Given the description of an element on the screen output the (x, y) to click on. 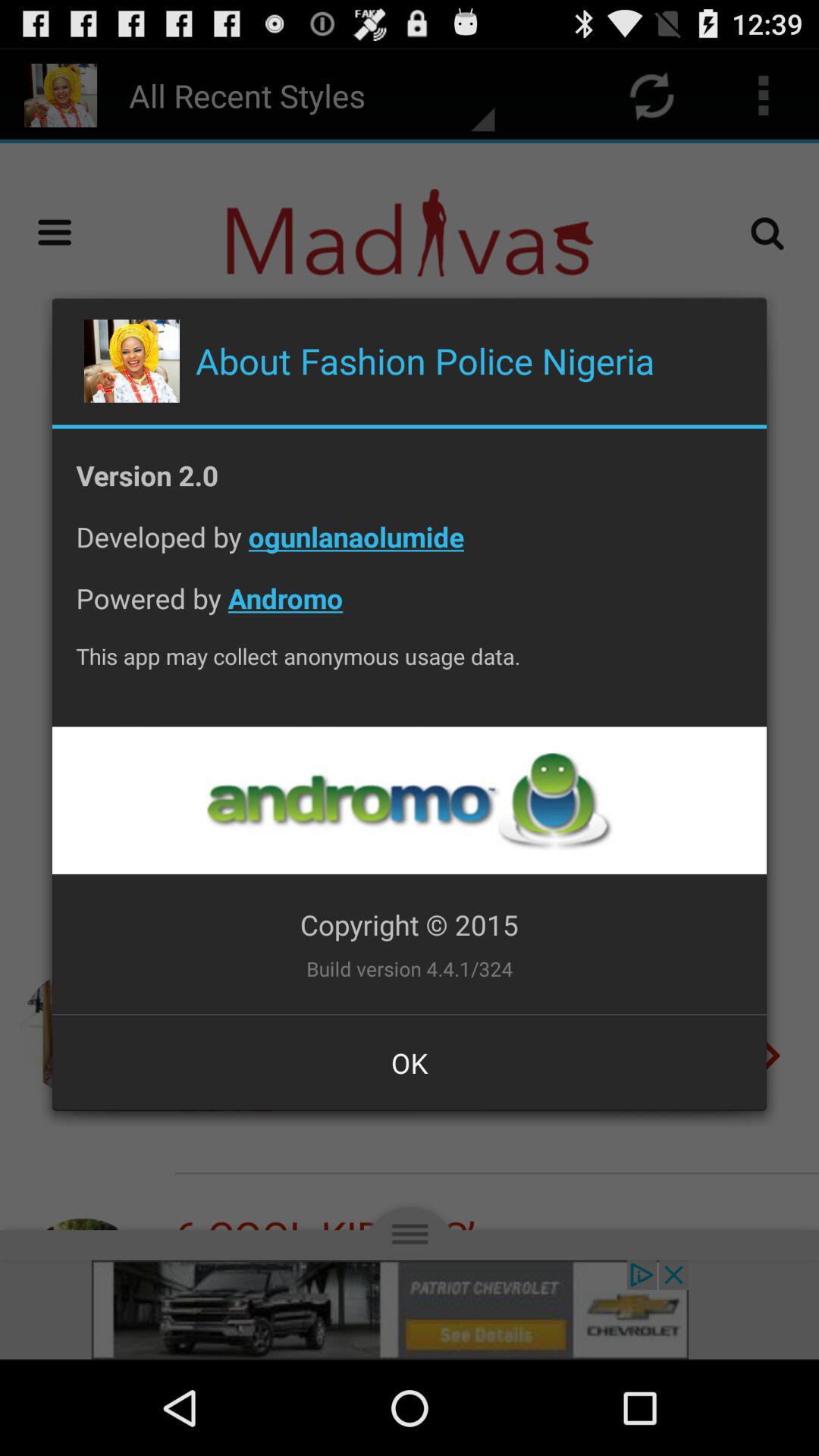
click to view company info (408, 800)
